Given the description of an element on the screen output the (x, y) to click on. 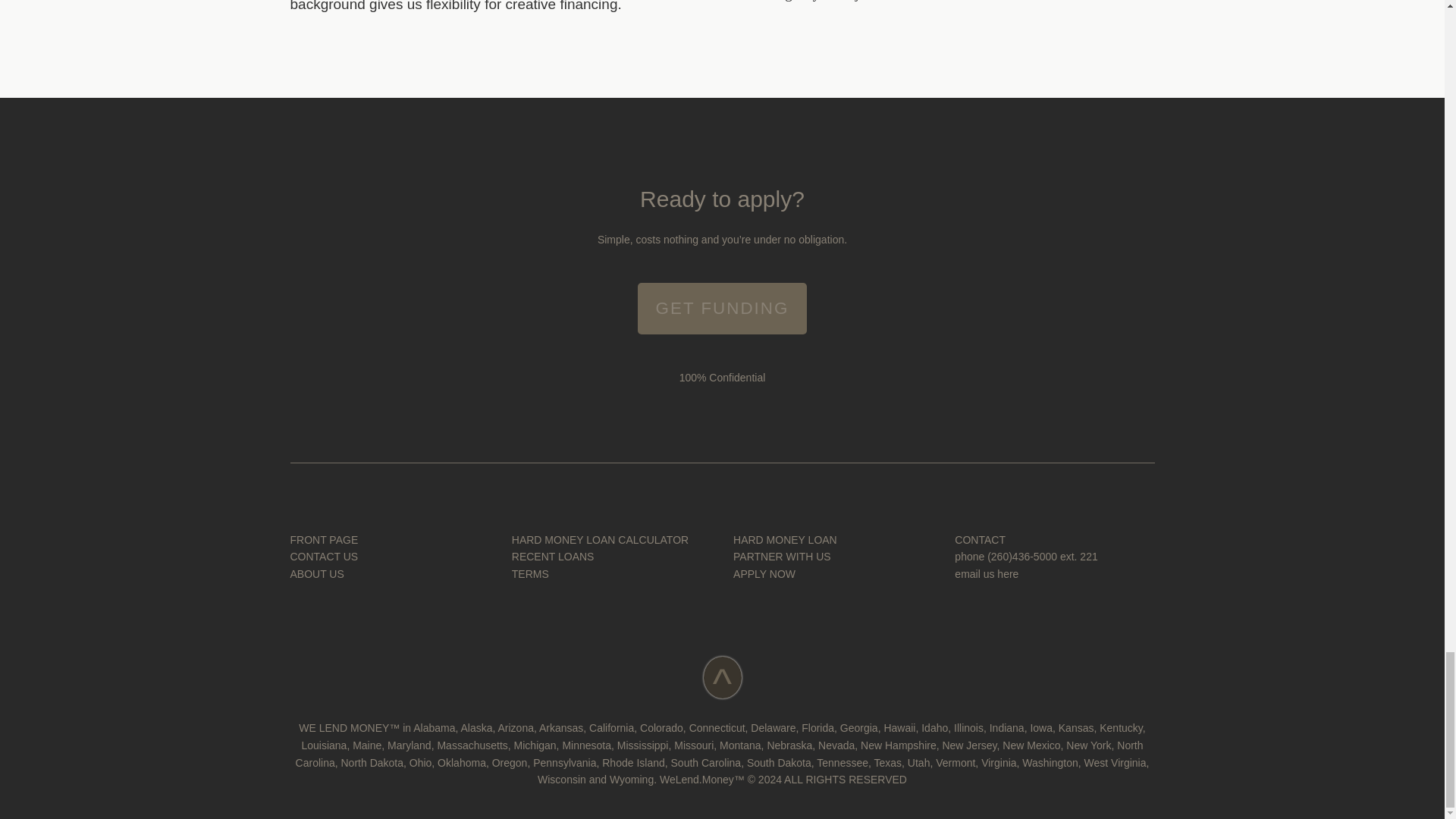
HARD MONEY LOAN (785, 539)
HARD MONEY LOAN CALCULATOR (600, 539)
APPLY NOW (763, 573)
TERMS (530, 573)
ABOUT US (316, 573)
email us here (986, 573)
RECENT LOANS (553, 556)
CONTACT US (323, 556)
FRONT PAGE (323, 539)
PARTNER WITH US (782, 556)
GET FUNDING (722, 308)
